Given the description of an element on the screen output the (x, y) to click on. 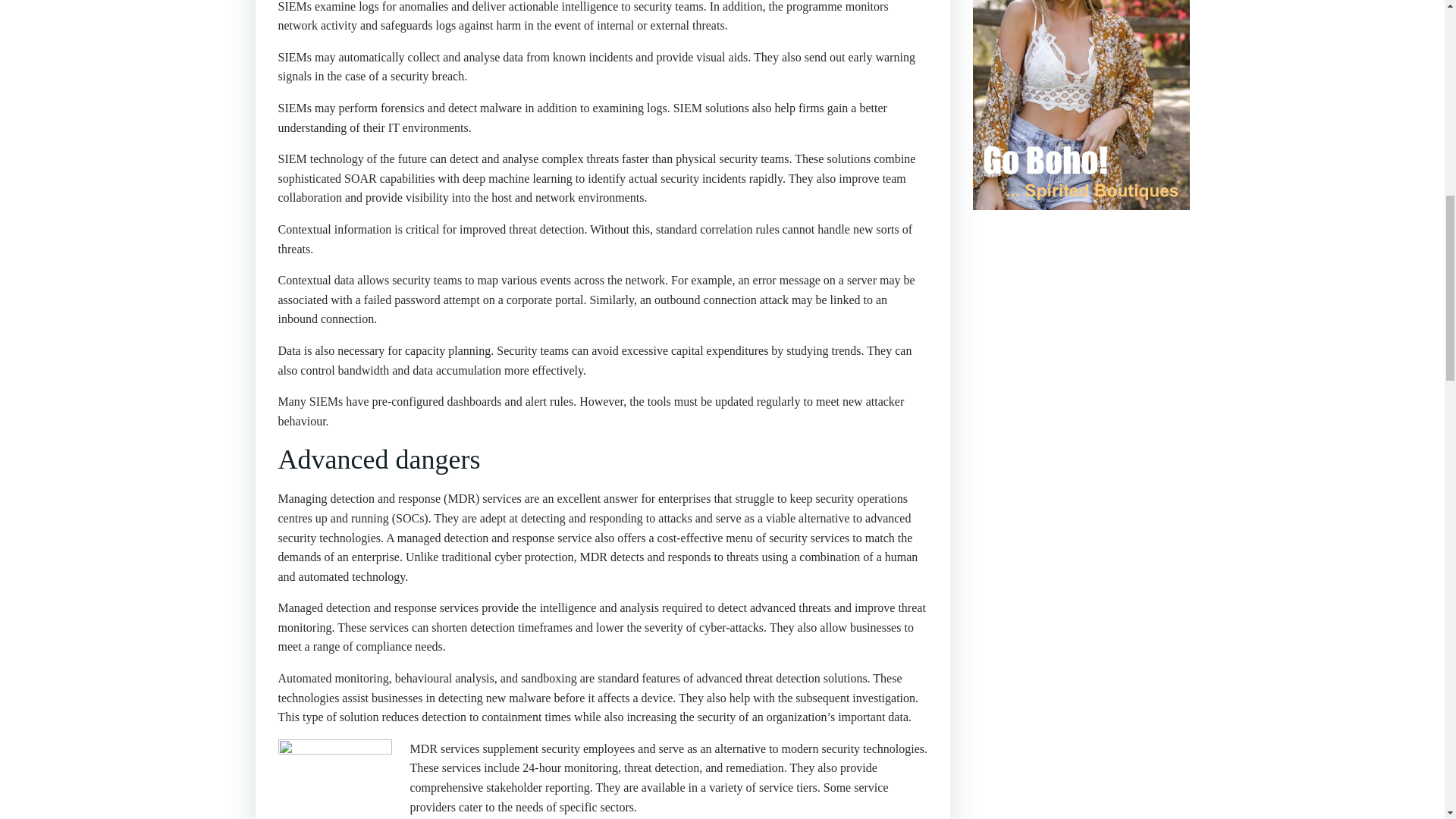
Spirited Boutiques (1080, 73)
